Given the description of an element on the screen output the (x, y) to click on. 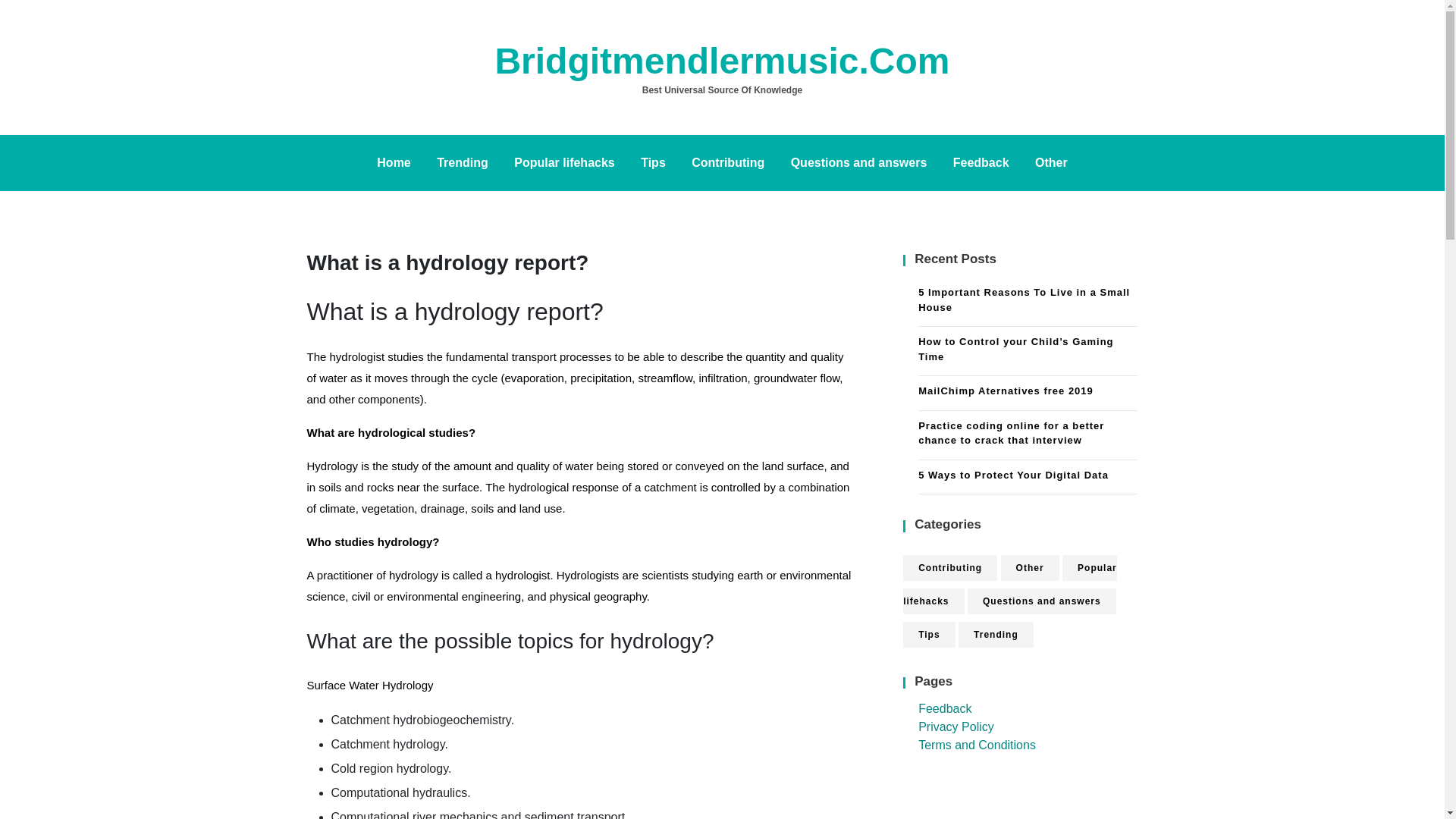
Tips (928, 634)
Bridgitmendlermusic.Com (722, 60)
Pinterest (5, 87)
Tips (652, 162)
Feedback (944, 707)
Popular lifehacks (1009, 584)
Messenger (5, 105)
Contributing (949, 567)
Trending (995, 634)
Other (1030, 567)
5 Ways to Protect Your Digital Data (1027, 476)
Feedback (981, 162)
Popular lifehacks (564, 162)
5 Important Reasons To Live in a Small House (1027, 301)
